Given the description of an element on the screen output the (x, y) to click on. 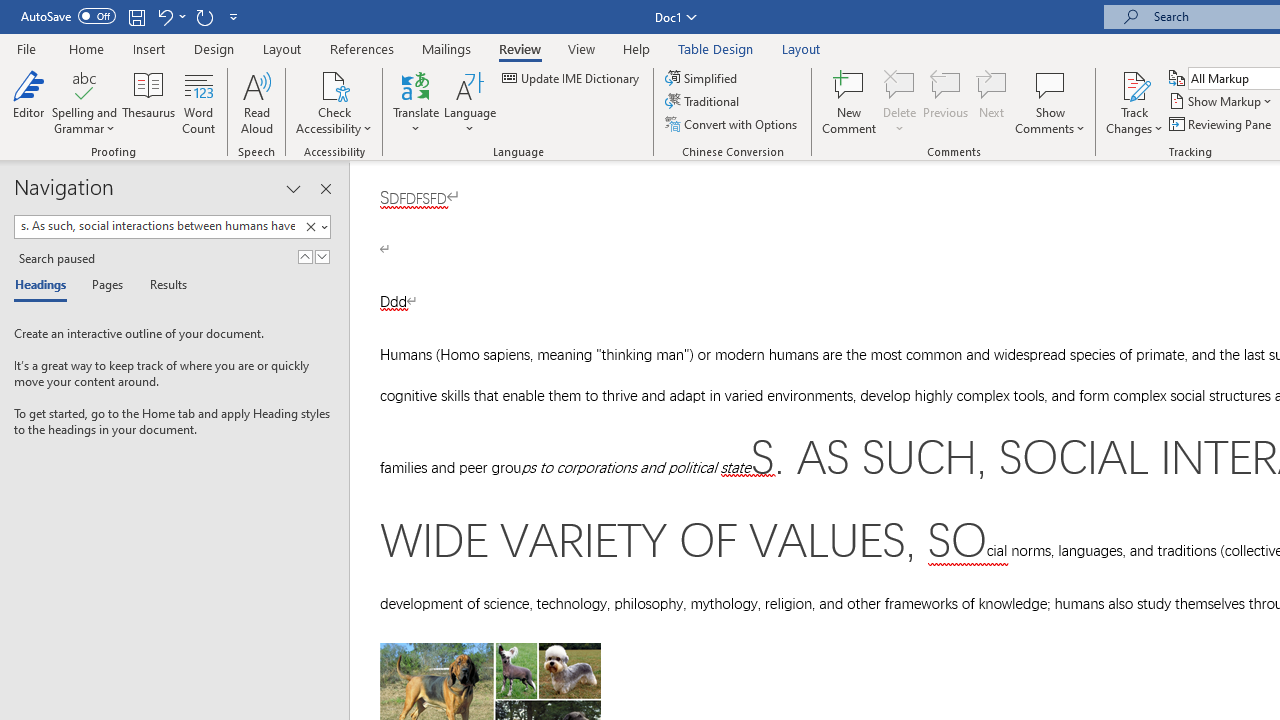
Delete (900, 102)
Check Accessibility (334, 102)
Show Comments (1050, 102)
Delete (900, 84)
Update IME Dictionary... (572, 78)
Clear (314, 227)
Repeat Style (204, 15)
Track Changes (1134, 84)
Check Accessibility (334, 84)
